Given the description of an element on the screen output the (x, y) to click on. 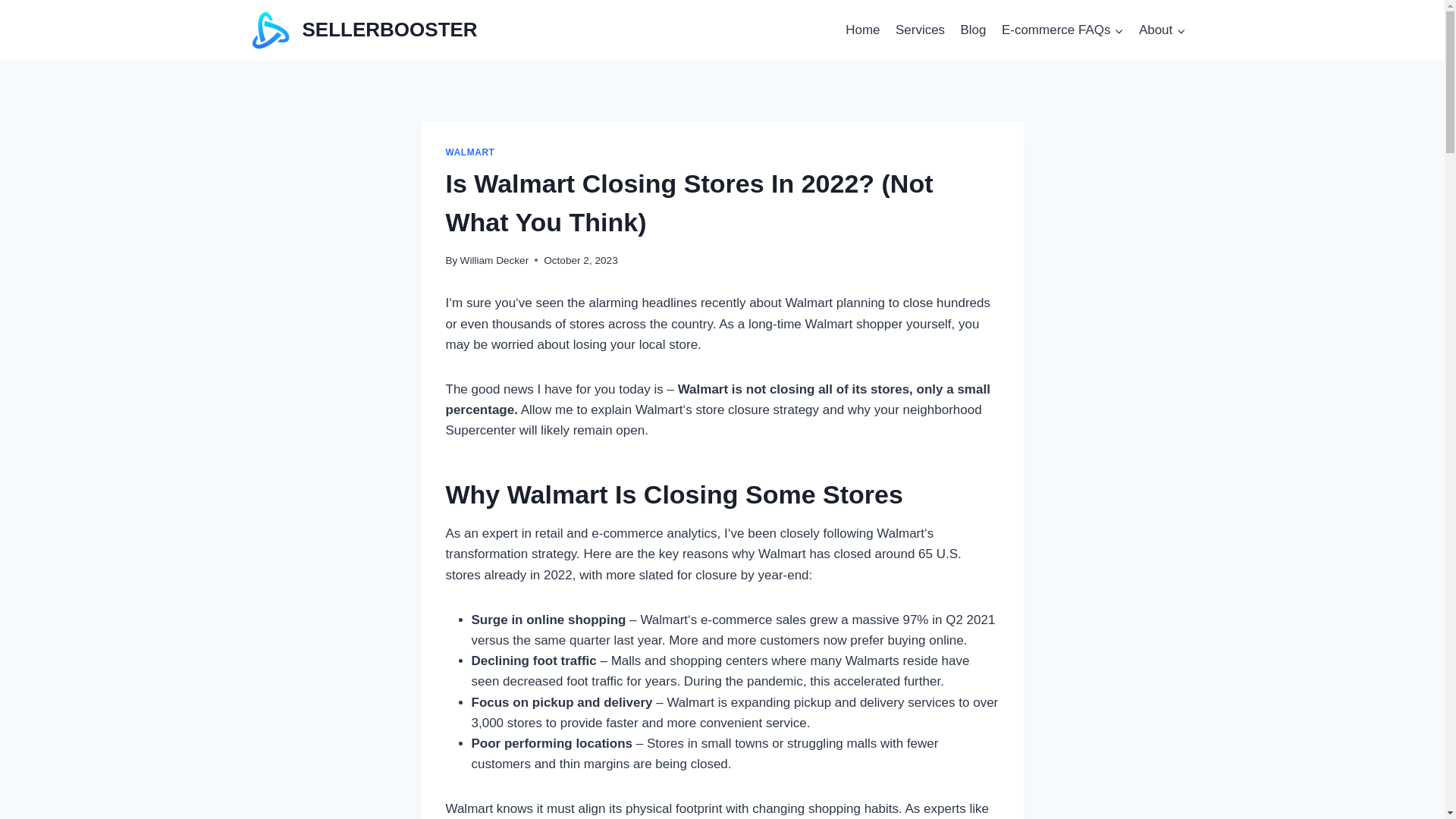
About (1162, 30)
Blog (972, 30)
E-commerce FAQs (1062, 30)
Home (863, 30)
WALMART (470, 152)
SELLERBOOSTER (364, 30)
Services (920, 30)
William Decker (494, 260)
